Given the description of an element on the screen output the (x, y) to click on. 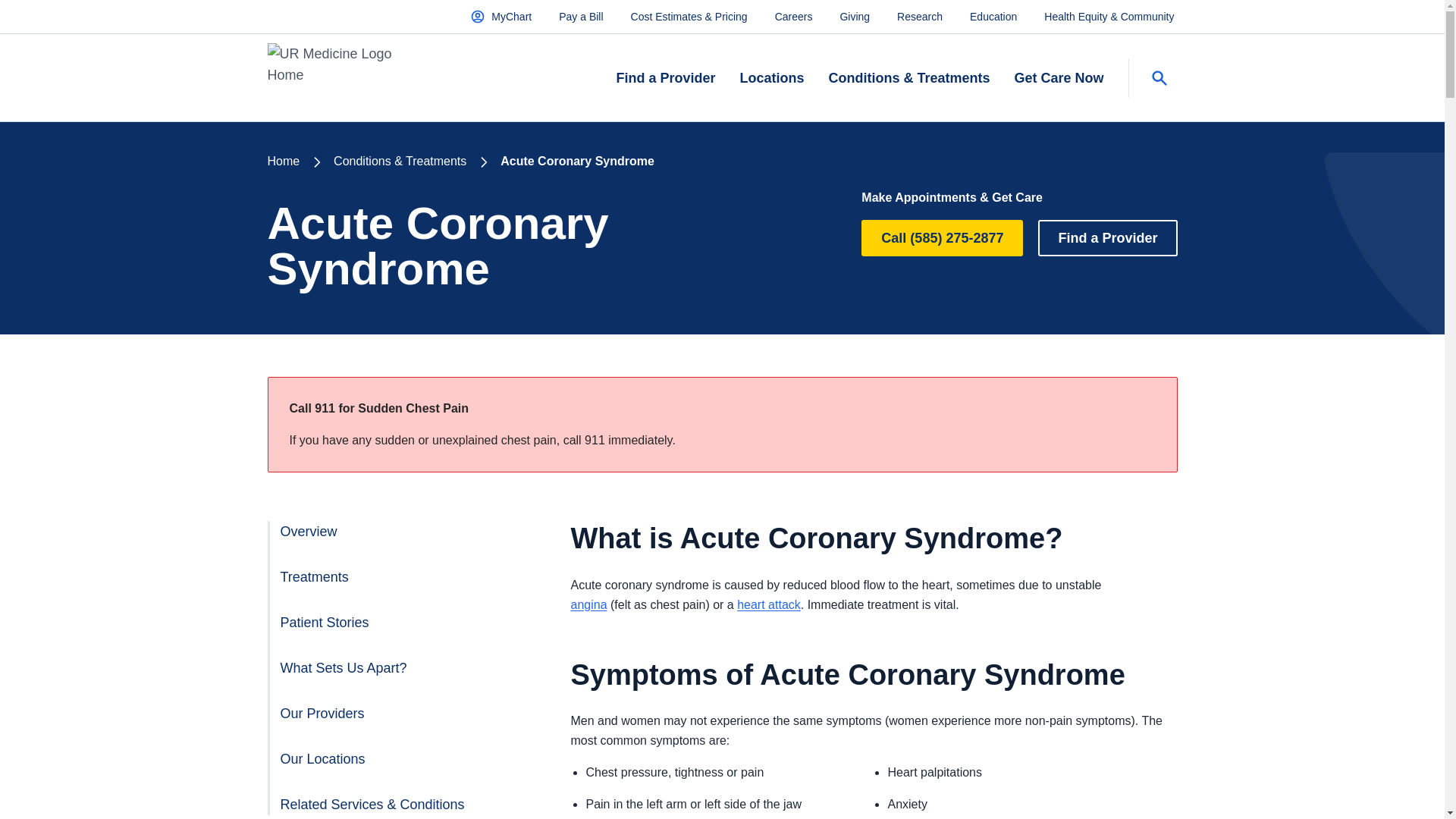
MyChart (500, 16)
Pay a Bill (580, 16)
Get Care Now (1058, 79)
Find a Provider (664, 79)
Research (918, 16)
Giving (853, 16)
Education (993, 16)
Careers (793, 16)
Locations (771, 79)
Home (282, 160)
UR Medicine Logo Home (345, 77)
